Given the description of an element on the screen output the (x, y) to click on. 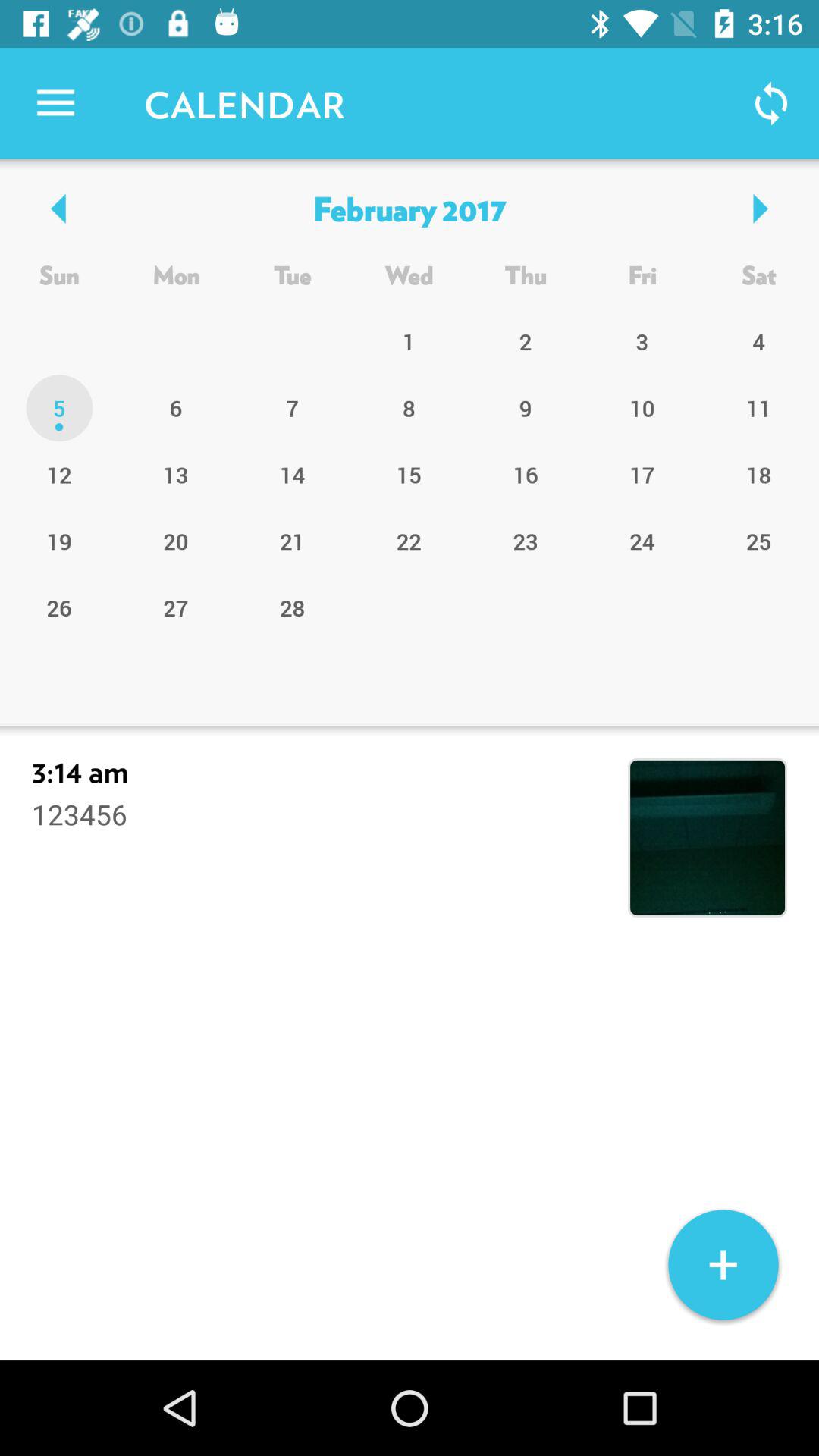
tap the item to the left of the 21 icon (175, 607)
